Given the description of an element on the screen output the (x, y) to click on. 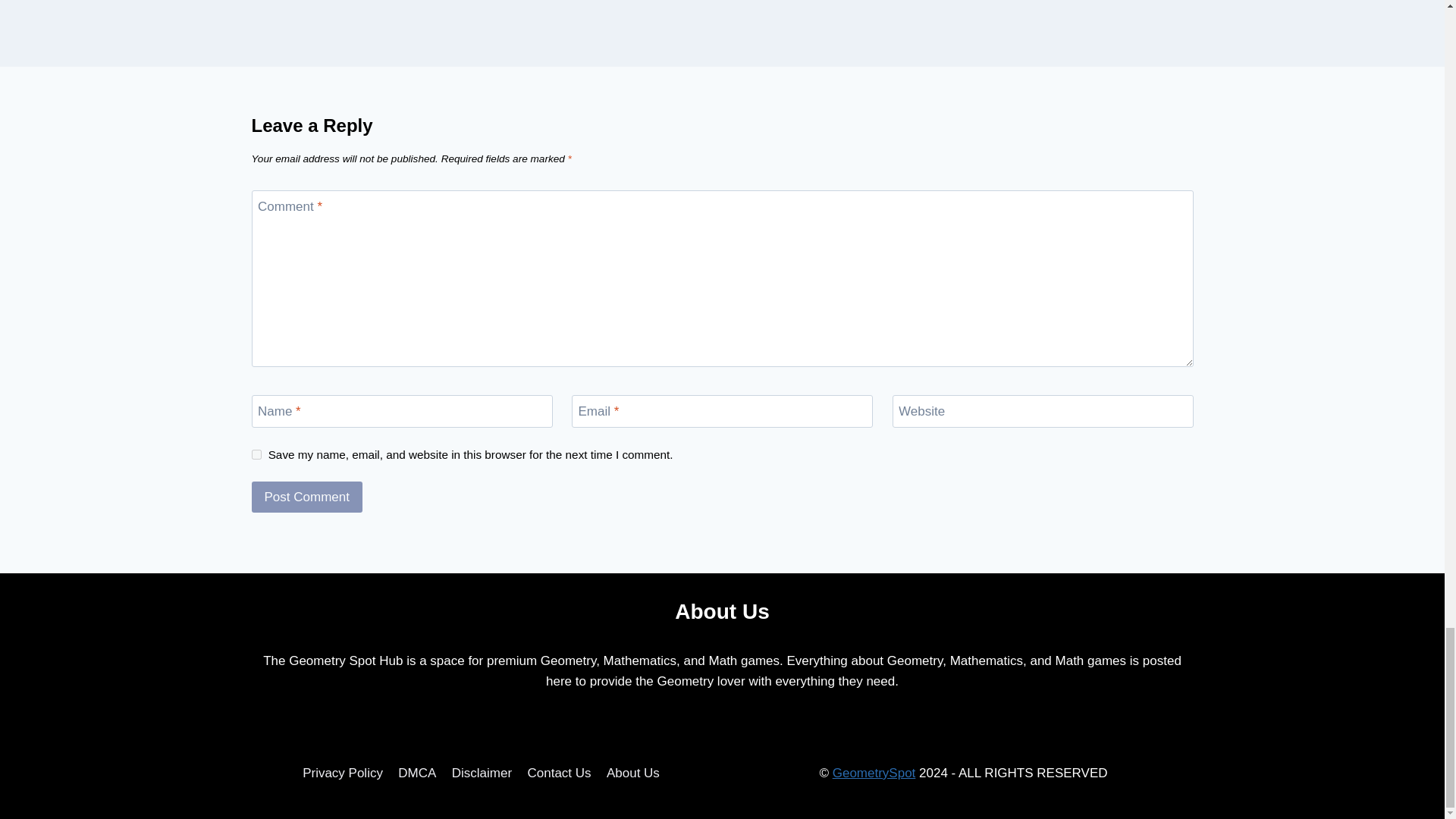
Post Comment (306, 496)
yes (256, 454)
